Given the description of an element on the screen output the (x, y) to click on. 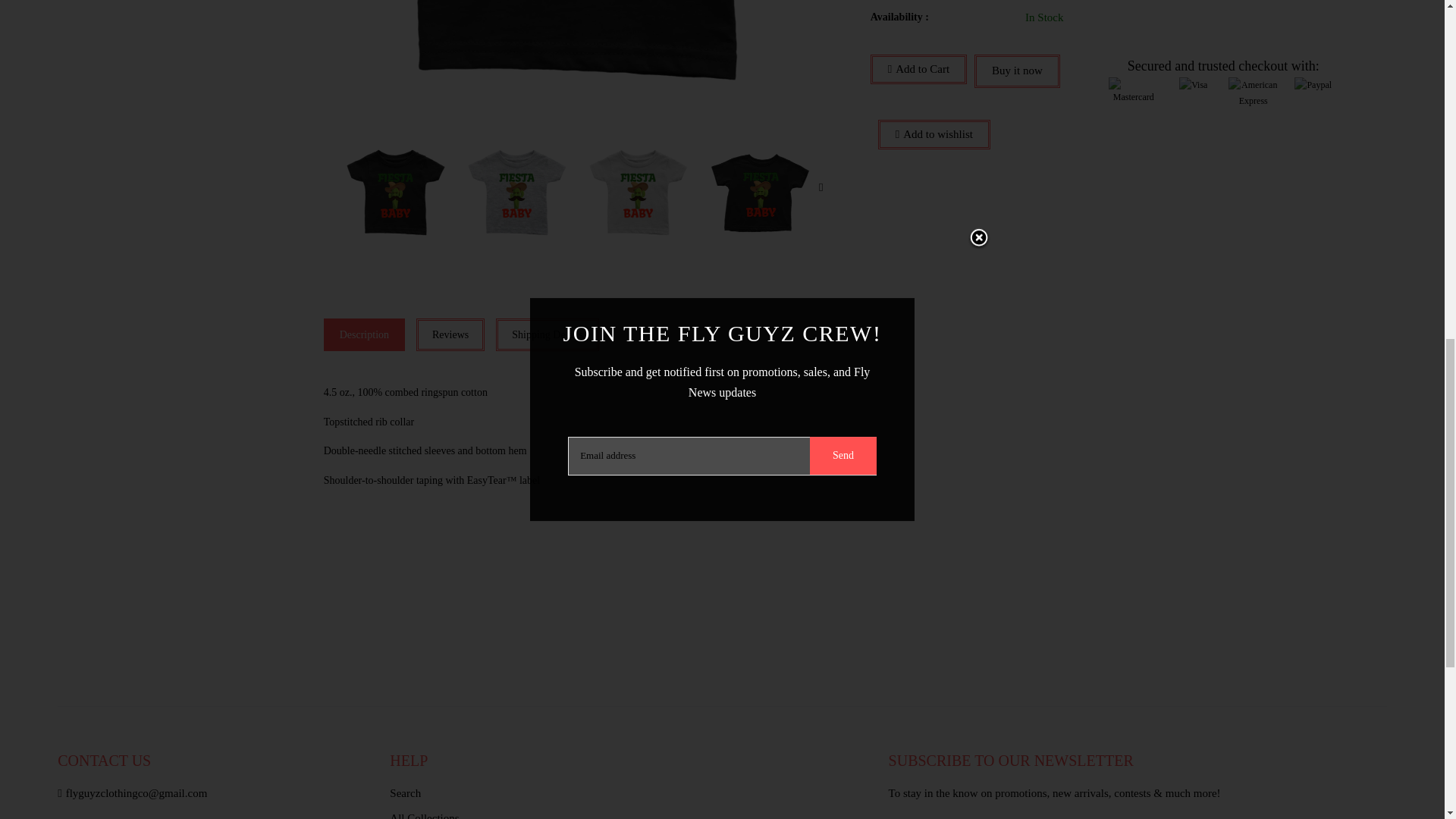
All Collections (623, 814)
Shipping Details (547, 335)
Description (363, 335)
Add to wishlist (933, 134)
Search (623, 796)
Buy it now (1016, 70)
Add to Cart (918, 69)
Reviews (450, 335)
